Given the description of an element on the screen output the (x, y) to click on. 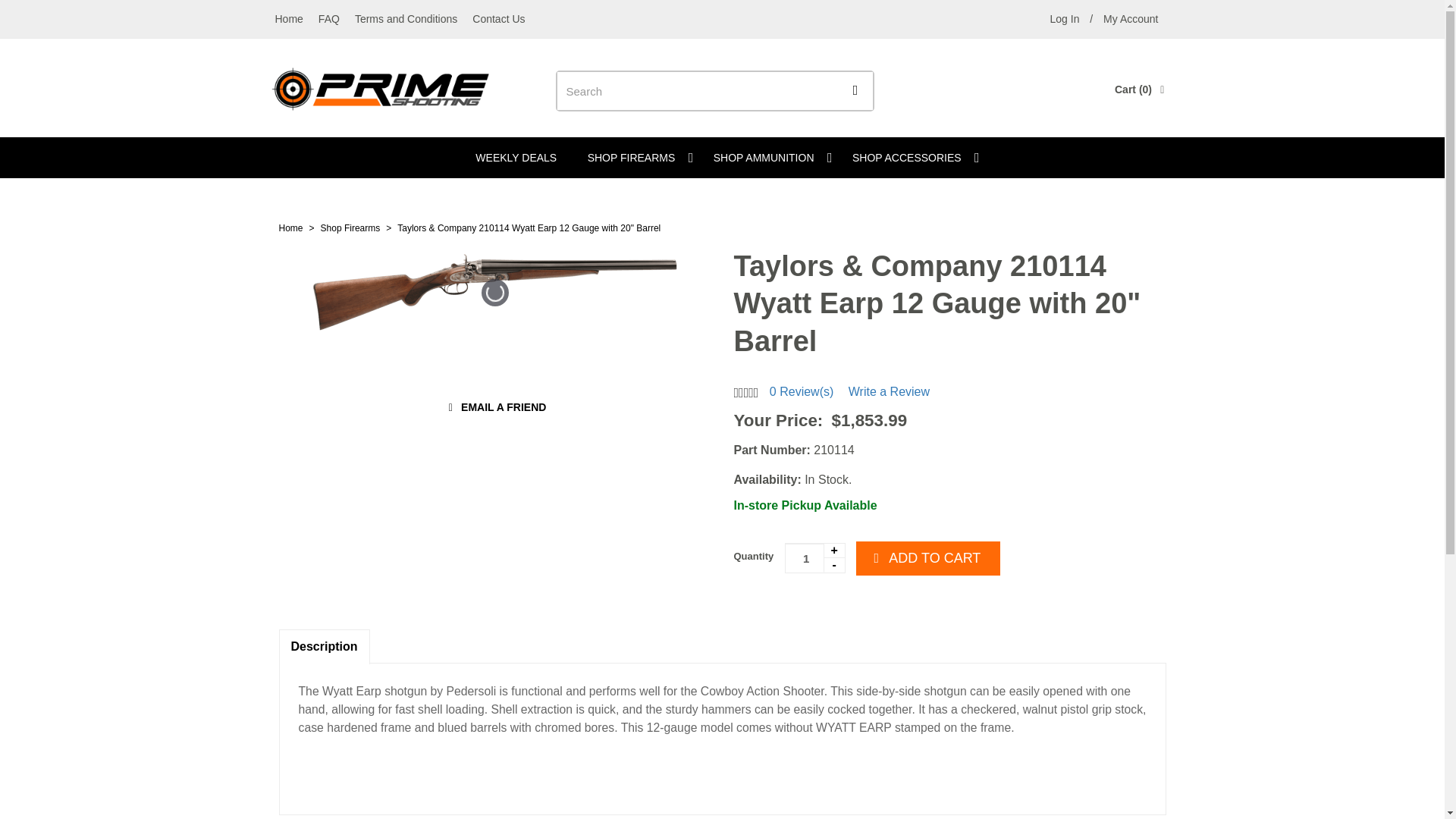
SHOP ACCESSORIES (910, 157)
Contact Us (498, 18)
FAQ (329, 18)
Home (288, 18)
Terms and Conditions (405, 18)
Home (290, 227)
SHOP FIREARMS (635, 157)
Shop Firearms (350, 227)
1 (814, 557)
WEEKLY DEALS (515, 157)
SHOP AMMUNITION (767, 157)
EMAIL A FRIEND (495, 407)
